Given the description of an element on the screen output the (x, y) to click on. 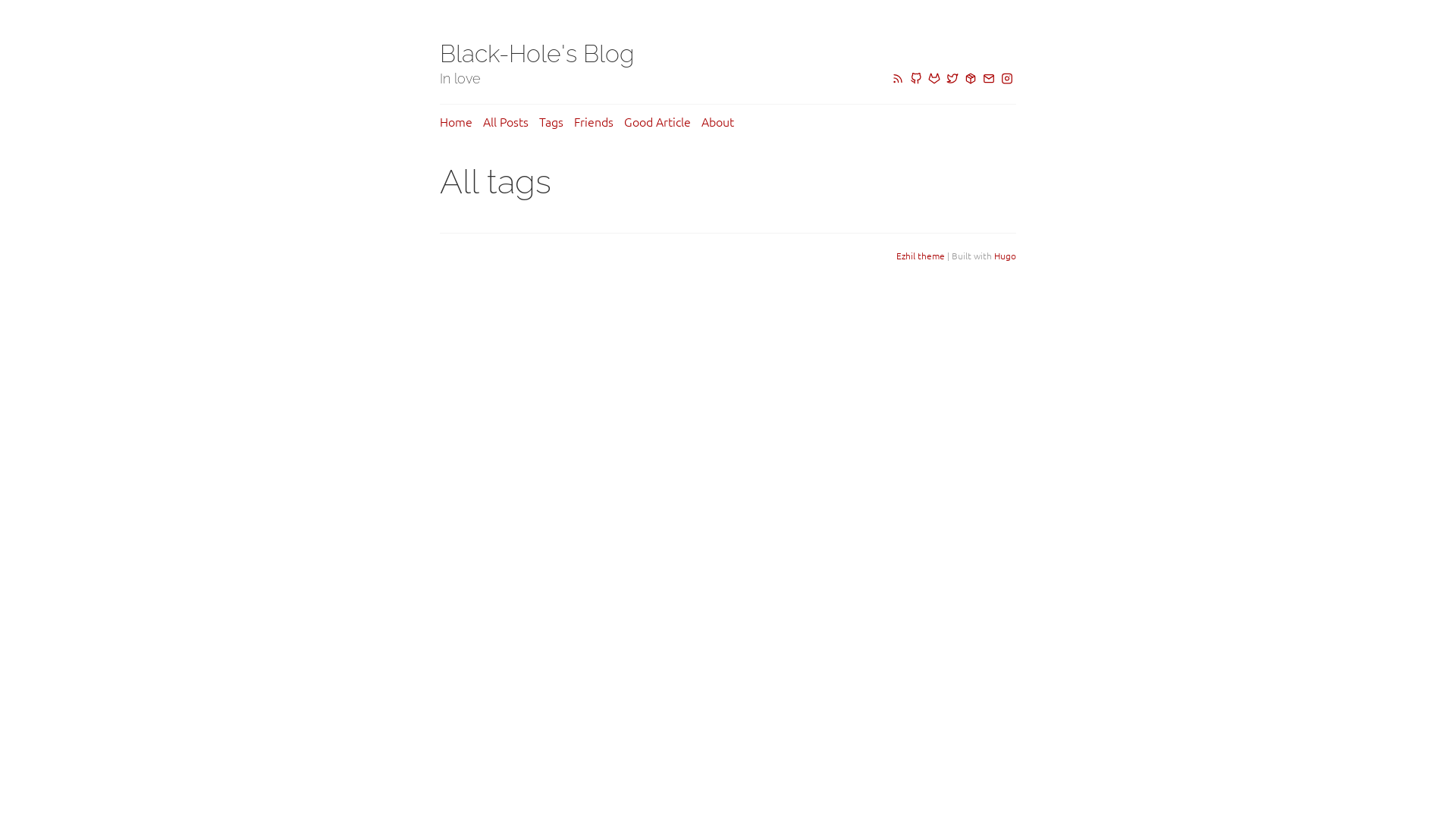
Tags Element type: text (551, 120)
NPM Element type: hover (970, 78)
Github Element type: hover (915, 78)
Hugo Element type: text (1005, 255)
RSS Element type: hover (897, 78)
Twitter Element type: hover (952, 78)
All Posts Element type: text (505, 120)
Good Article Element type: text (657, 120)
Ezhil theme Element type: text (920, 255)
About Element type: text (717, 120)
GitLab Element type: hover (934, 78)
Home Element type: text (455, 120)
Mali Element type: hover (988, 78)
Black-Hole's Blog Element type: text (536, 53)
Friends Element type: text (593, 120)
Instagram Element type: hover (1006, 78)
